Given the description of an element on the screen output the (x, y) to click on. 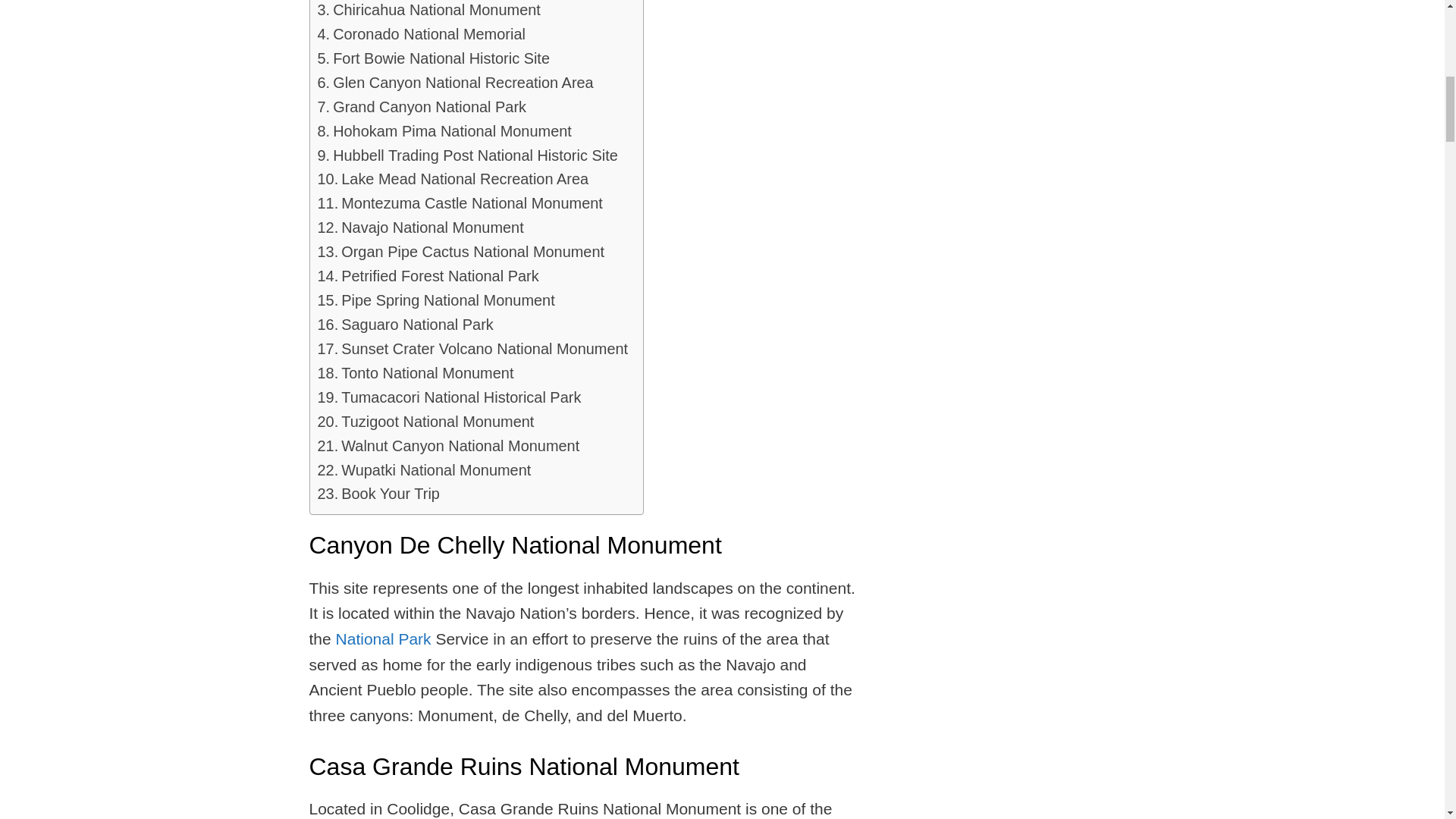
Chiricahua National Monument (428, 11)
Petrified Forest National Park (427, 276)
Organ Pipe Cactus National Monument (460, 252)
Saguaro National Park (405, 324)
Grand Canyon National Park (421, 107)
Hubbell Trading Post National Historic Site (467, 156)
Glen Canyon National Recreation Area (454, 83)
Glen Canyon National Recreation Area (454, 83)
Organ Pipe Cactus National Monument (460, 252)
Hohokam Pima National Monument (443, 131)
